Given the description of an element on the screen output the (x, y) to click on. 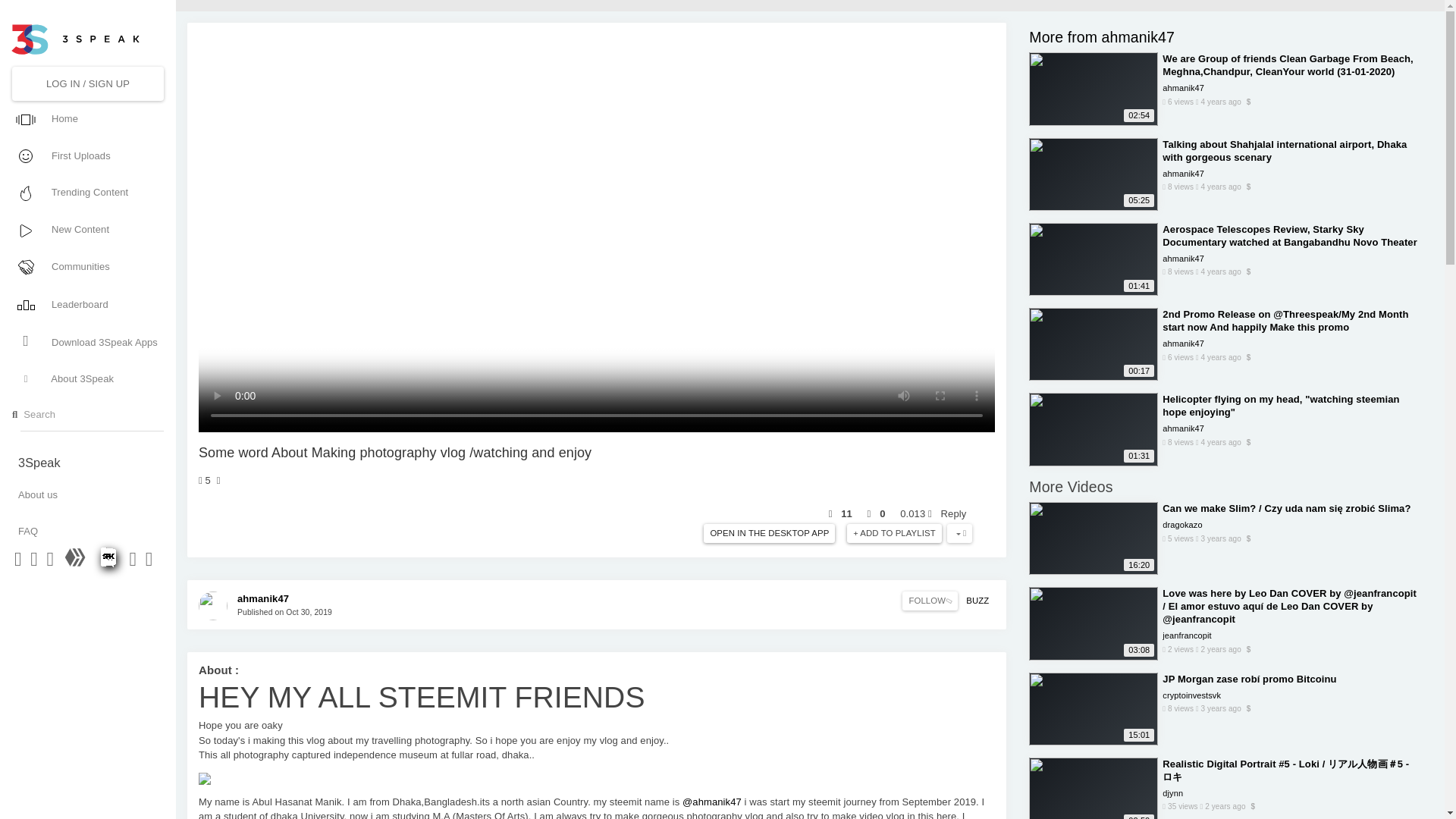
About 3Speak (85, 379)
Leaderboard (85, 303)
About us (87, 494)
OPEN IN THE DESKTOP APP (768, 533)
BUZZ (977, 600)
First Uploads (85, 155)
New Content (85, 229)
FOLLOW (929, 600)
SPK Network (109, 562)
FAQ (87, 531)
ahmanik47 (262, 598)
About 3Speak (85, 379)
ADD TO PLAYLIST (894, 533)
